Given the description of an element on the screen output the (x, y) to click on. 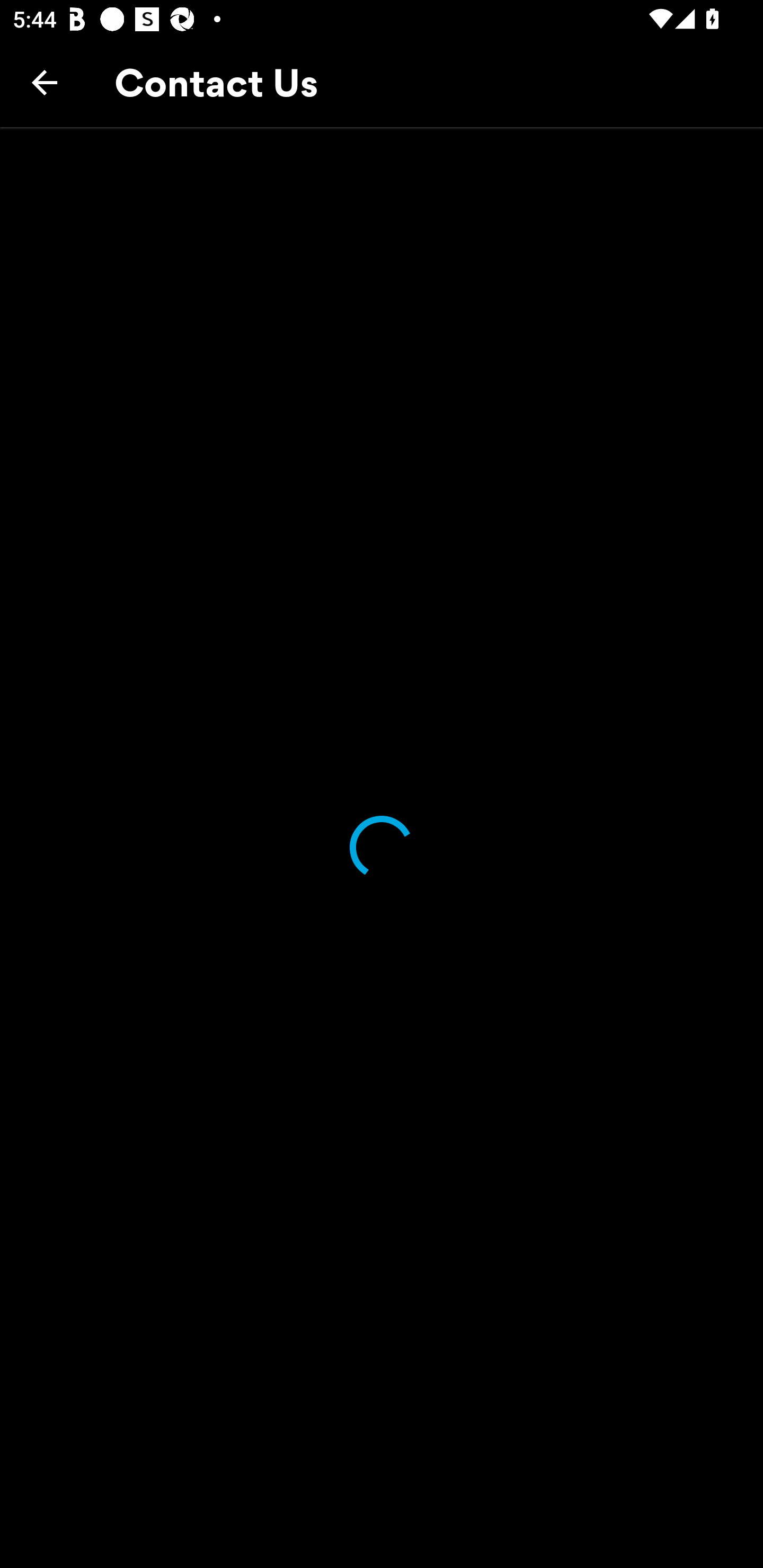
Back (44, 82)
